Given the description of an element on the screen output the (x, y) to click on. 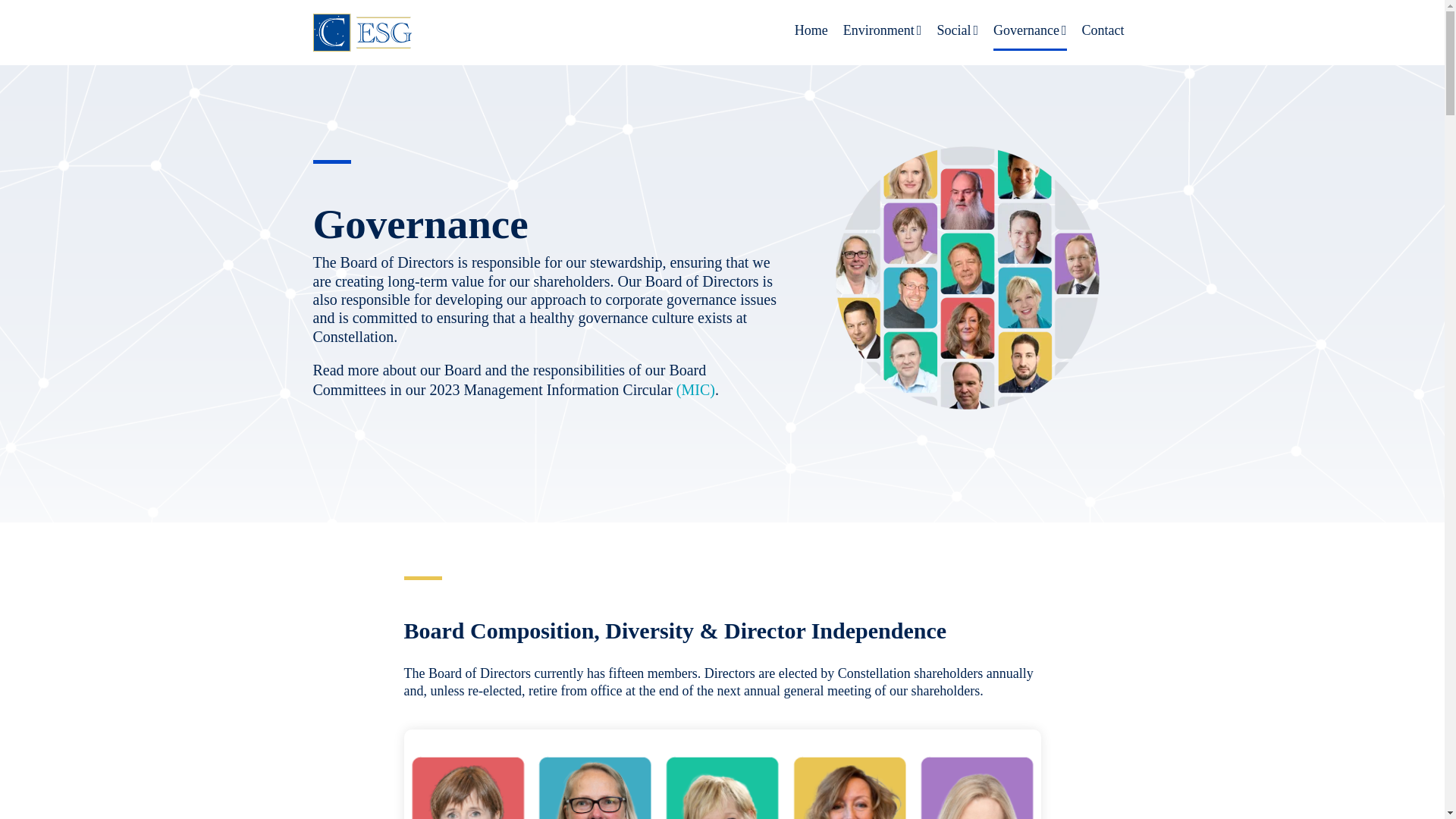
Home (811, 30)
Environment (882, 30)
CSI-ESG-FullColor (361, 31)
Social (957, 30)
Governance (1029, 30)
